Given the description of an element on the screen output the (x, y) to click on. 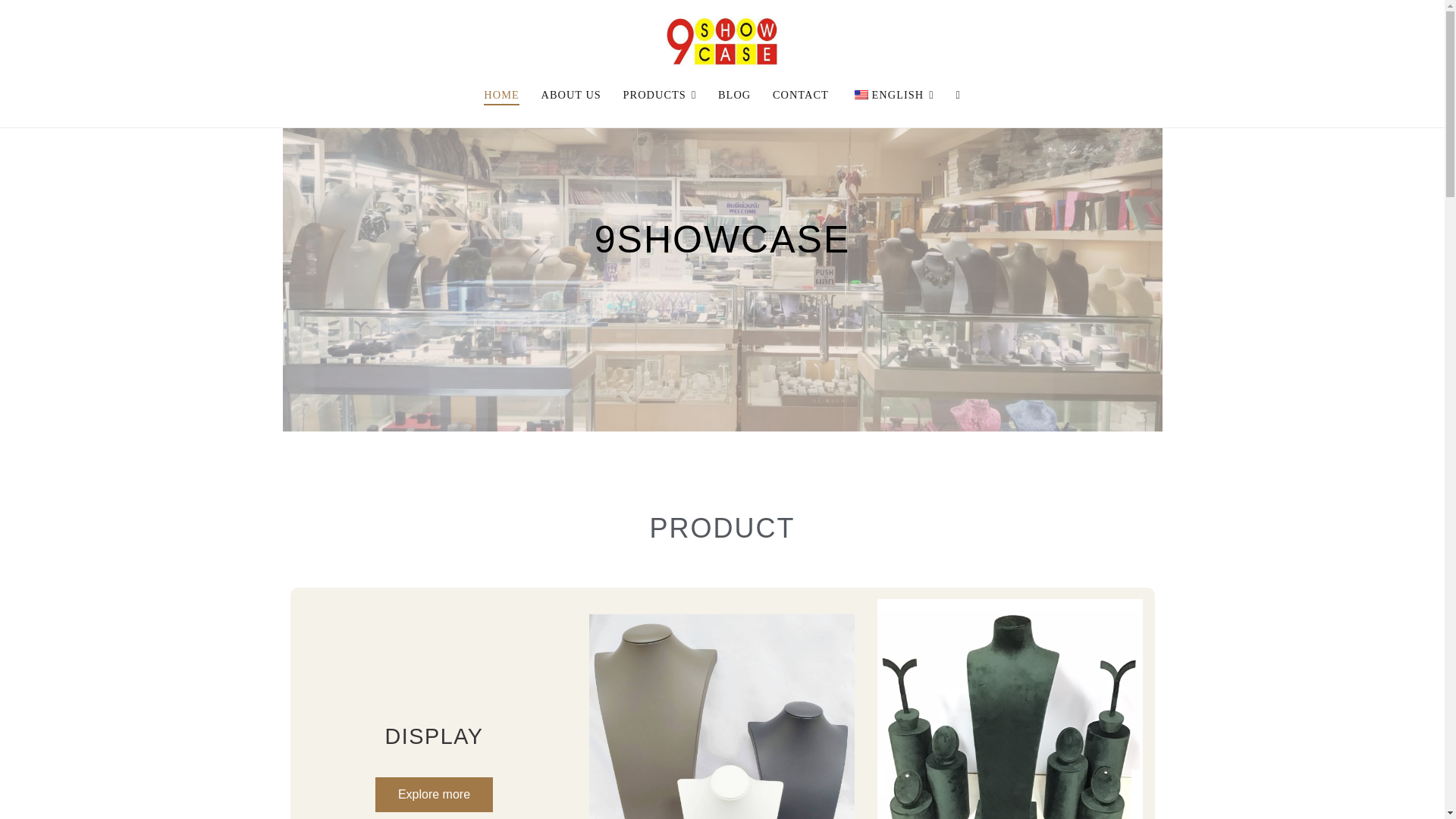
CONTACT (800, 95)
9showcase (757, 84)
BLOG (734, 95)
English (860, 94)
ENGLISH (892, 95)
HOME (500, 95)
ABOUT US (571, 95)
PRODUCTS (660, 95)
